Given the description of an element on the screen output the (x, y) to click on. 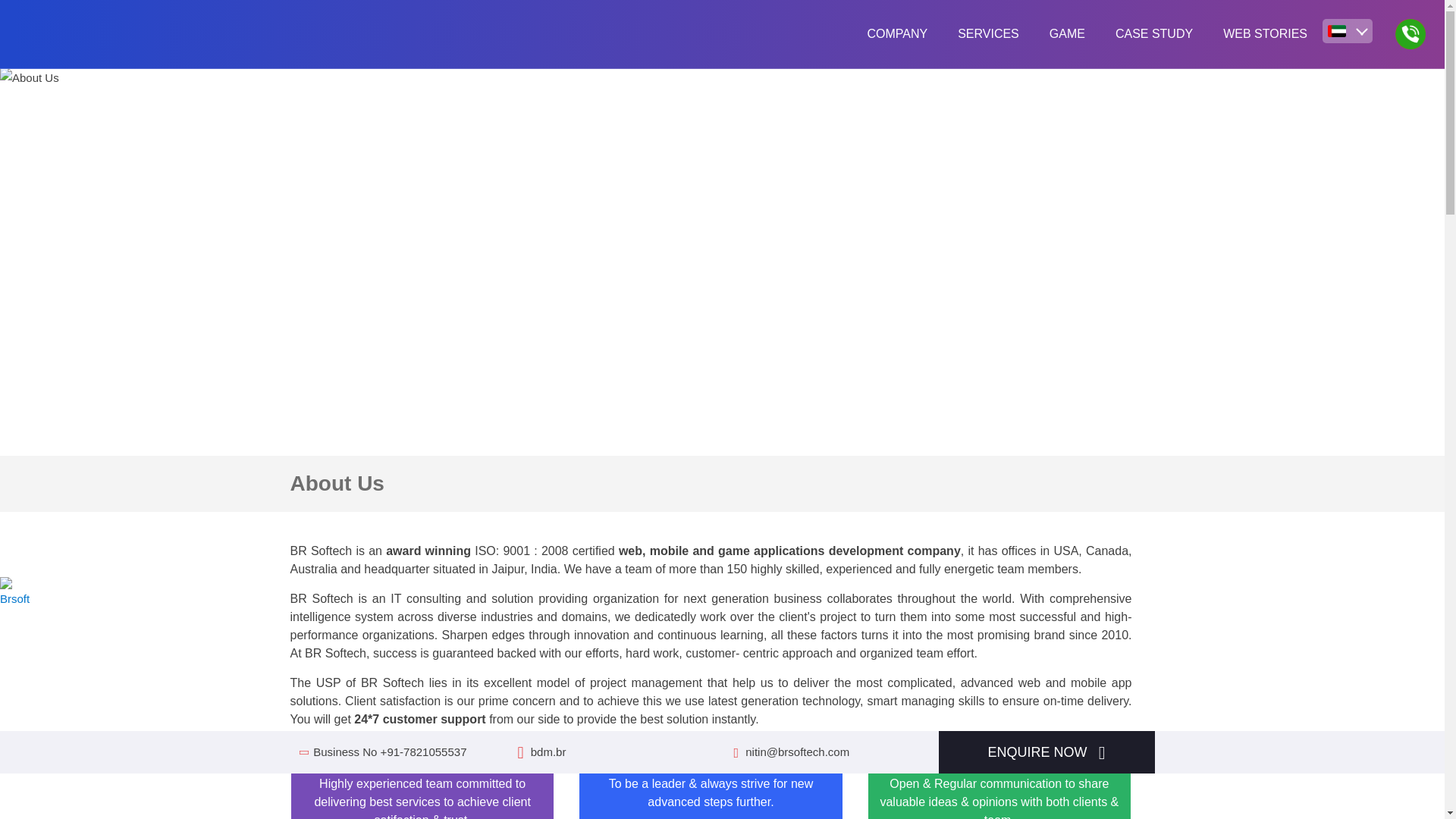
COMPANY (896, 33)
United Arab Emirates (1336, 30)
SERVICES (987, 33)
About Us (29, 77)
